Given the description of an element on the screen output the (x, y) to click on. 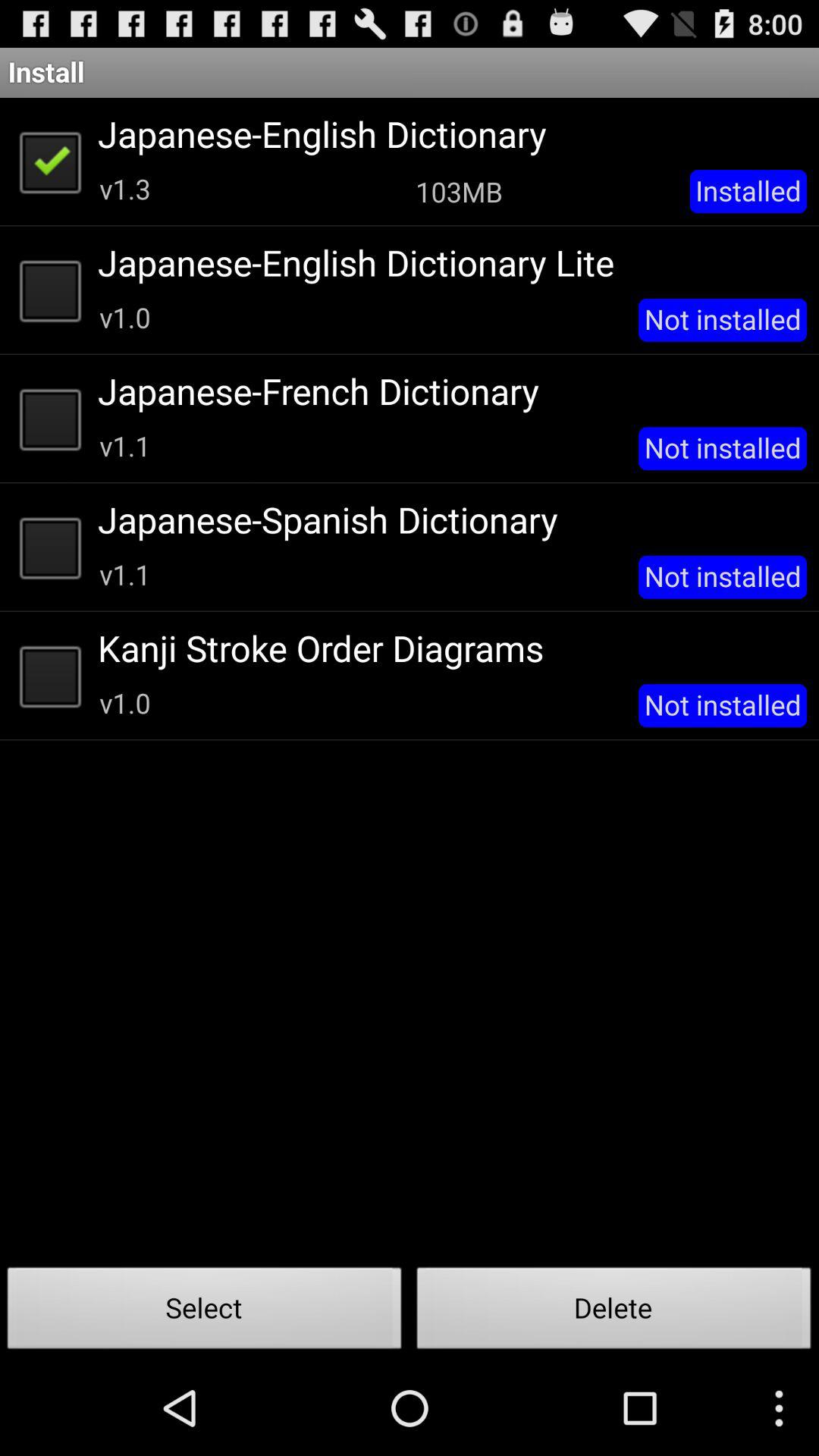
choose item next to the select (614, 1312)
